Given the description of an element on the screen output the (x, y) to click on. 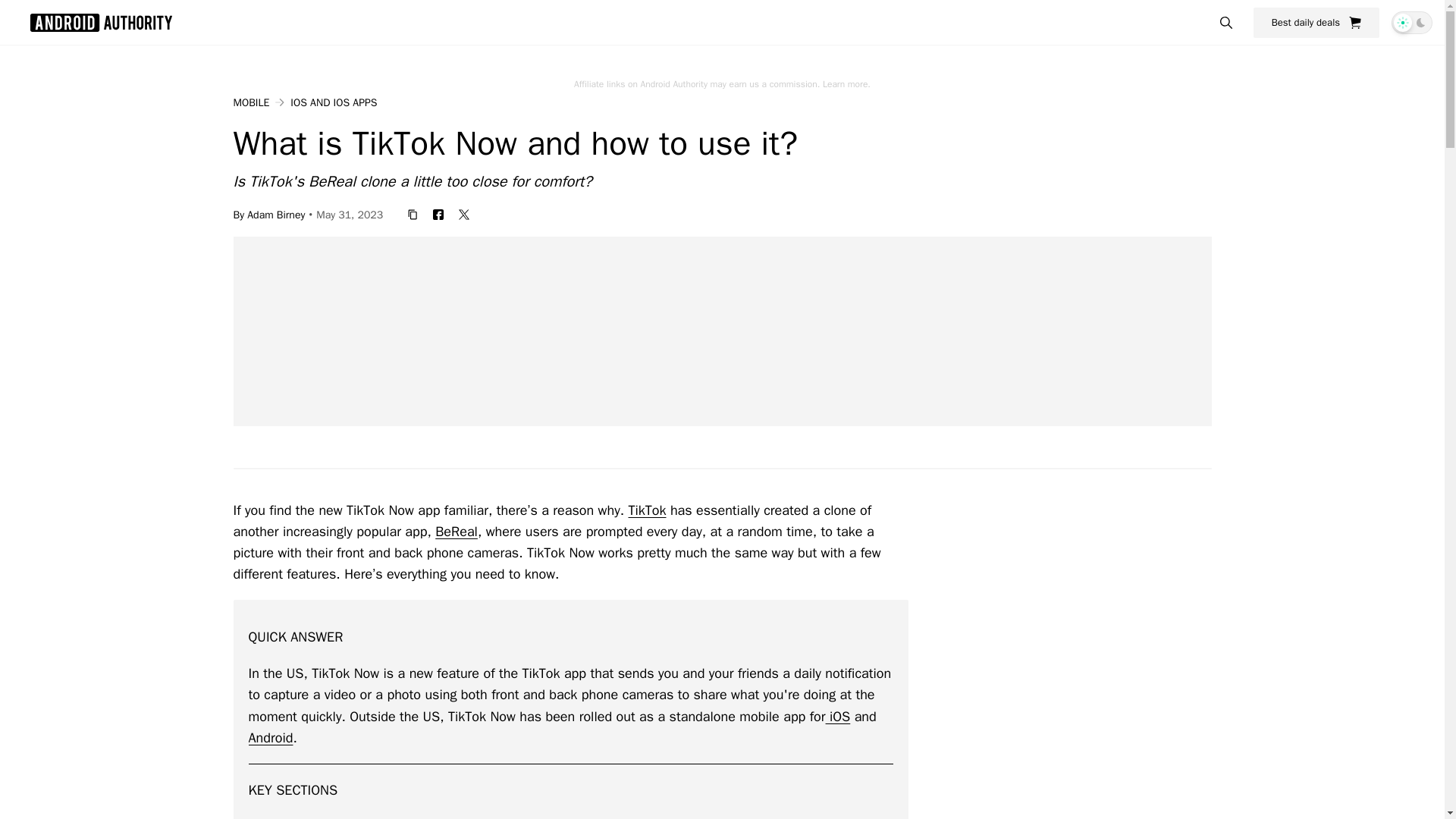
BeReal (456, 531)
Android (271, 737)
MOBILE (250, 102)
Best daily deals (1315, 22)
facebook (438, 214)
IOS AND IOS APPS (333, 102)
Adam Birney (275, 213)
iOS (837, 716)
twitter (464, 214)
